Given the description of an element on the screen output the (x, y) to click on. 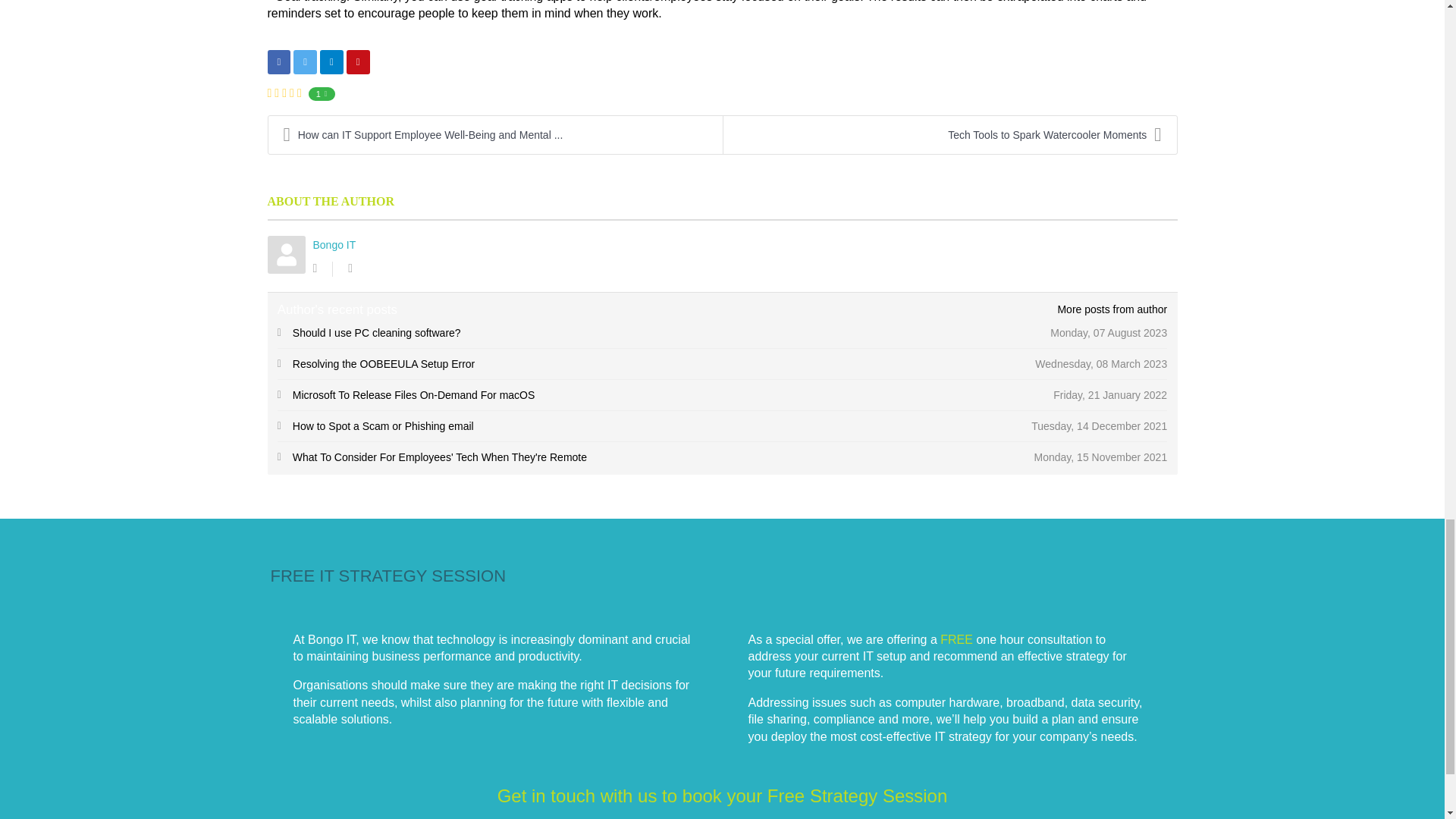
1 vote (321, 93)
contact (722, 795)
